Given the description of an element on the screen output the (x, y) to click on. 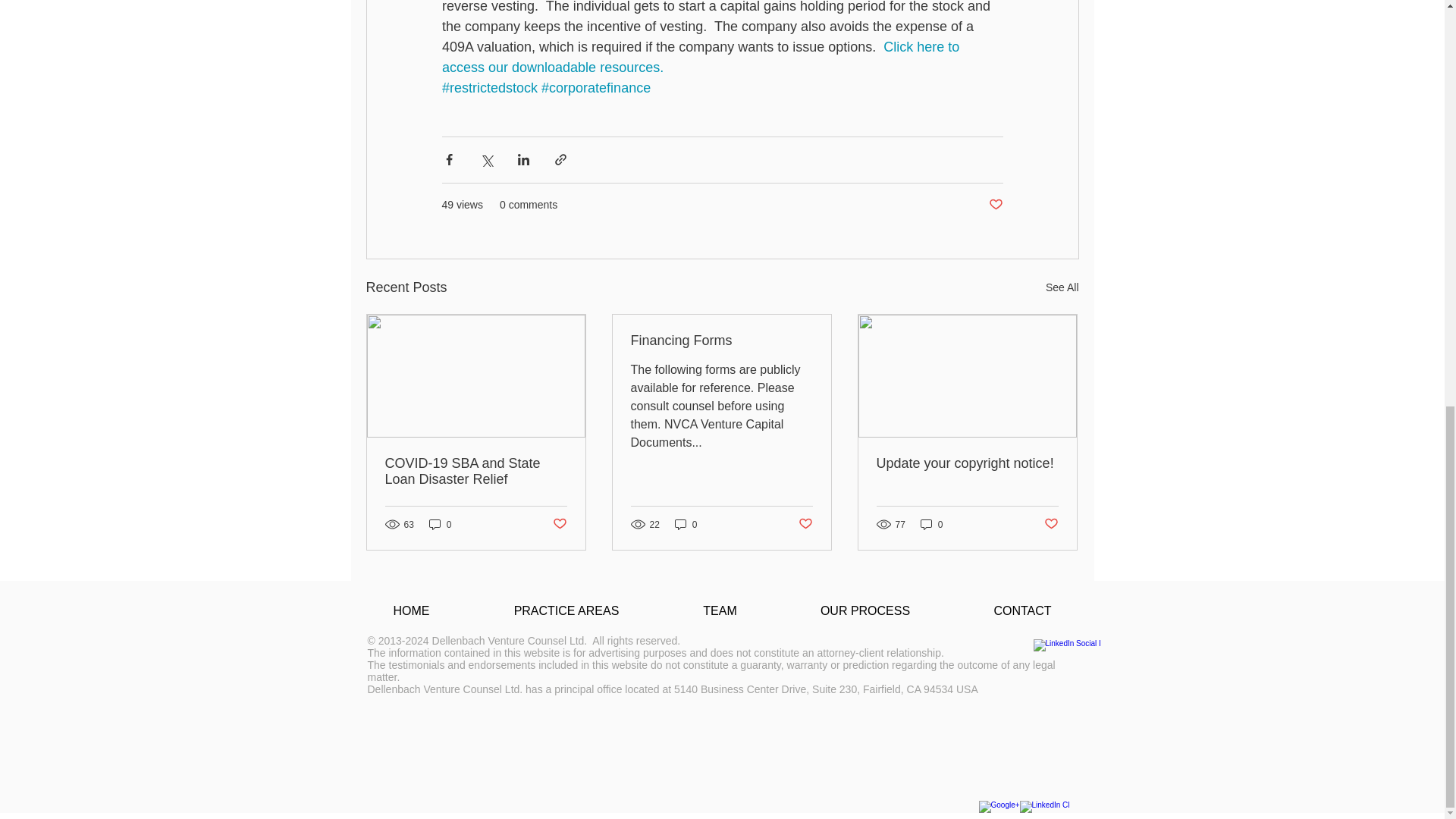
Post not marked as liked (558, 524)
COVID-19 SBA and State Loan Disaster Relief (476, 471)
Post not marked as liked (995, 204)
 Click here to access our downloadable resources. (701, 57)
0 (685, 523)
Post not marked as liked (804, 524)
Financing Forms (721, 340)
See All (1061, 287)
0 (440, 523)
